Given the description of an element on the screen output the (x, y) to click on. 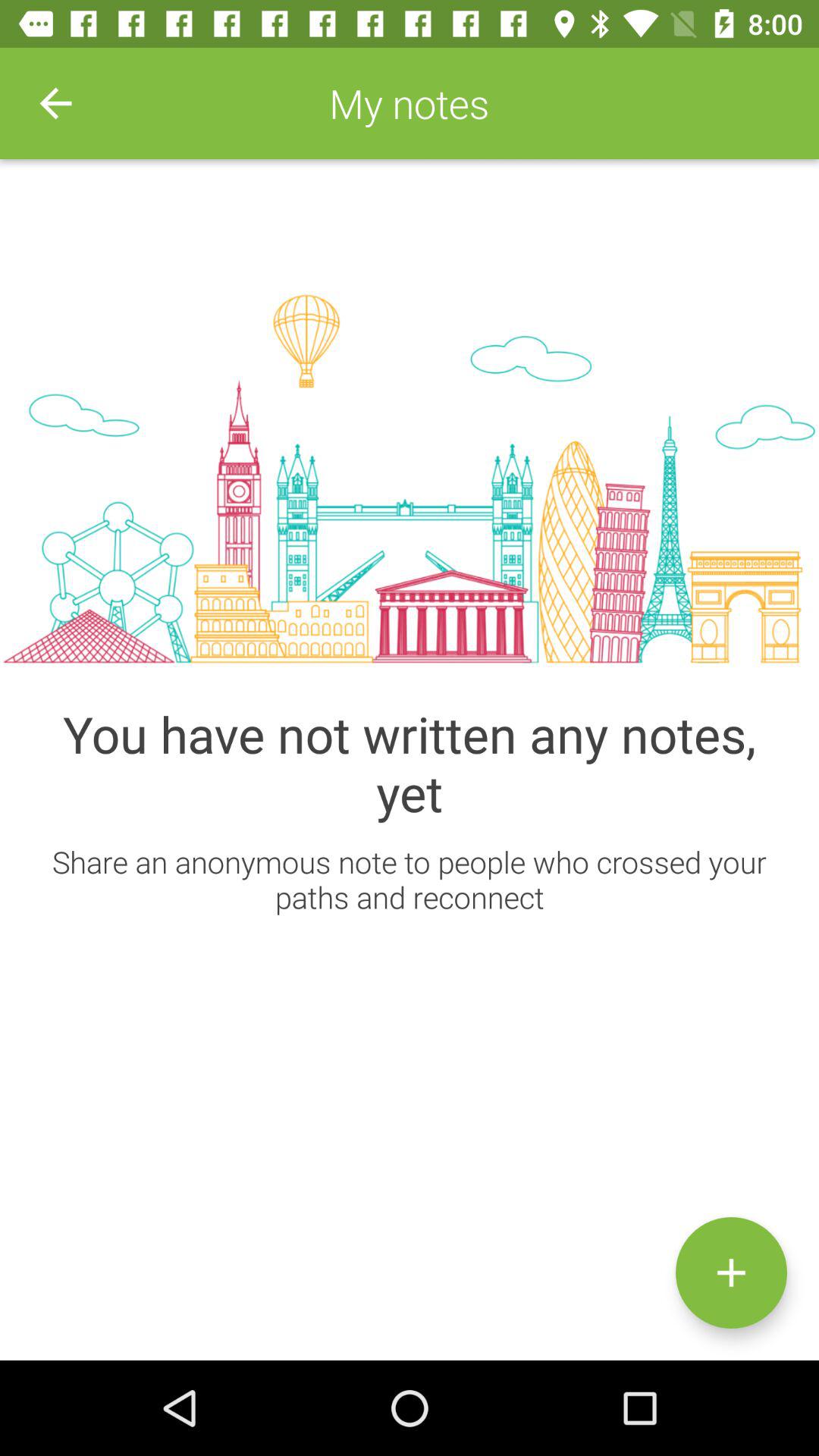
select icon to the left of my notes item (55, 103)
